Given the description of an element on the screen output the (x, y) to click on. 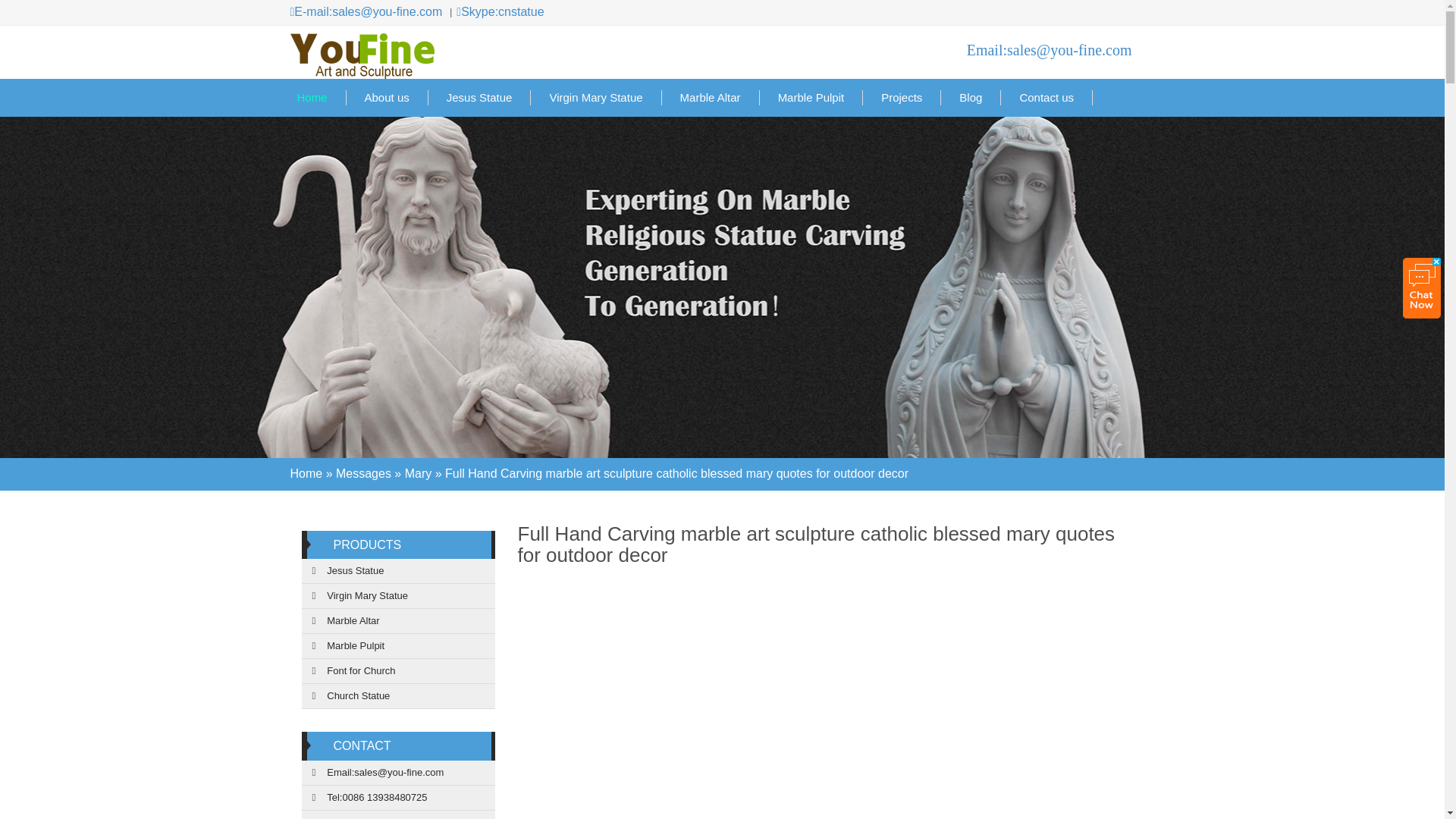
Home (312, 97)
Marble Altar (398, 621)
Marble Pulpit (811, 97)
Virgin Mary Statue (596, 97)
PRODUCTS (367, 544)
 About us (387, 97)
Mary (418, 498)
Jesus Statue (398, 570)
Skype:cnstatue (494, 12)
Font for Church (398, 671)
Virgin Mary Statue (596, 97)
Jesus Statue (479, 97)
About us (387, 97)
VinSar Product (367, 544)
Contact us (1047, 97)
